Given the description of an element on the screen output the (x, y) to click on. 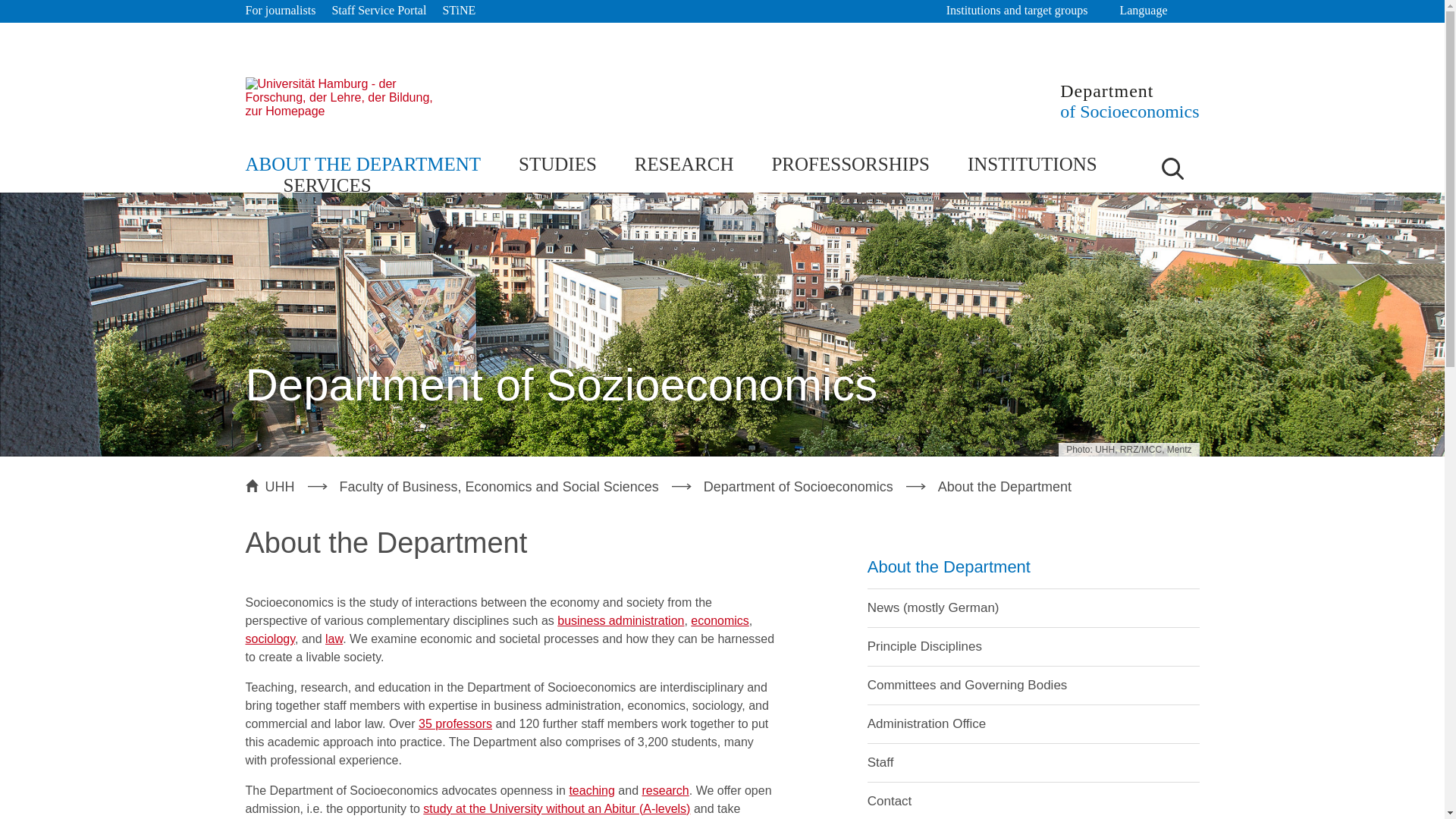
Page logo: Home (1128, 101)
STiNE (459, 11)
For journalists (280, 11)
Staff Service Portal (378, 11)
Institutions and target groups (1024, 11)
Home (347, 96)
